Given the description of an element on the screen output the (x, y) to click on. 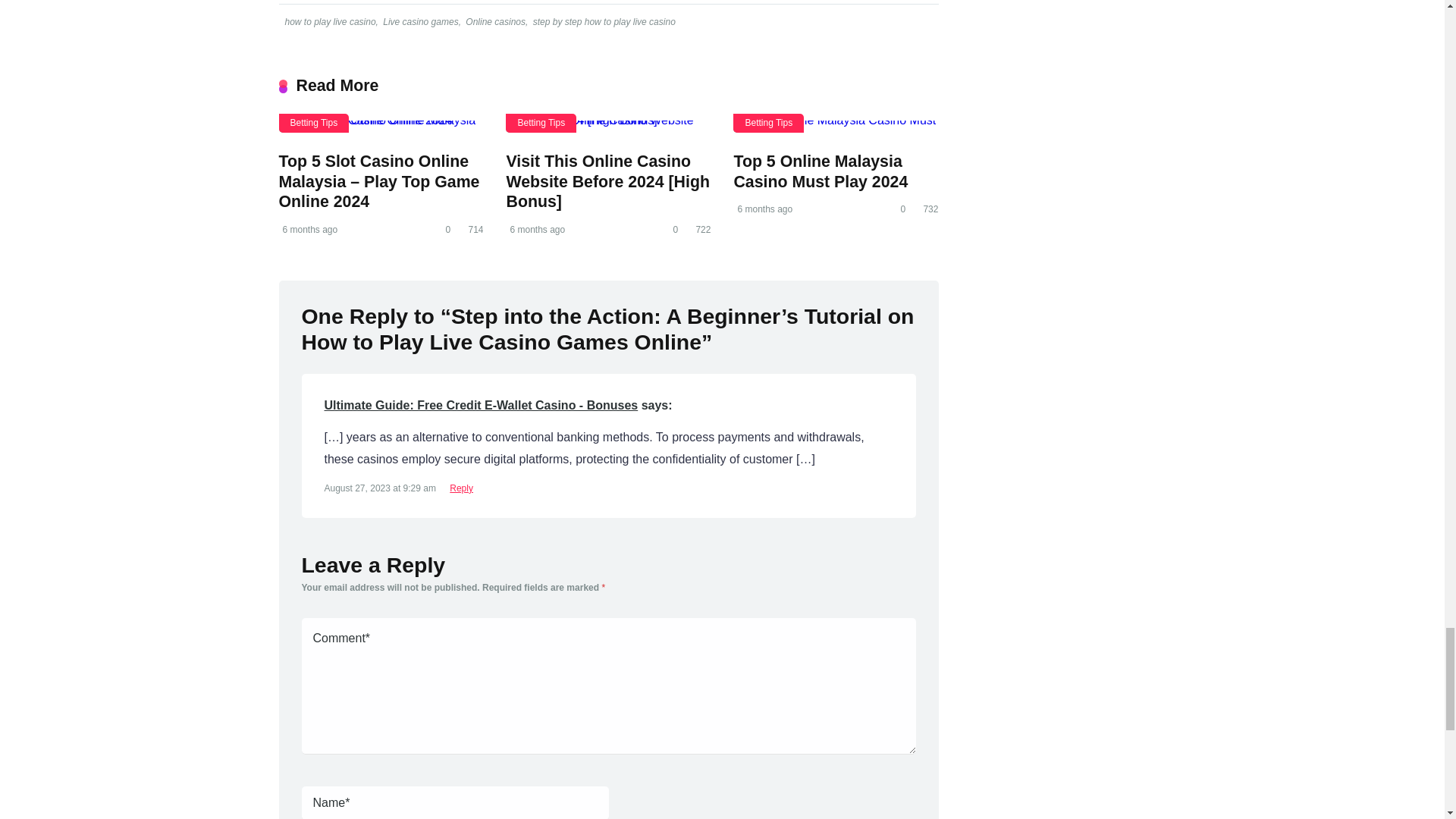
Ultimate Guide: Free Credit E-Wallet Casino - Bonuses (481, 404)
Betting Tips (314, 122)
Betting Tips (768, 122)
Live casino games (419, 21)
how to play live casino (328, 21)
Betting Tips (540, 122)
step by step how to play live casino (603, 21)
Online casinos (494, 21)
Top 5 Online Malaysia Casino Must Play 2024 (820, 171)
